Given the description of an element on the screen output the (x, y) to click on. 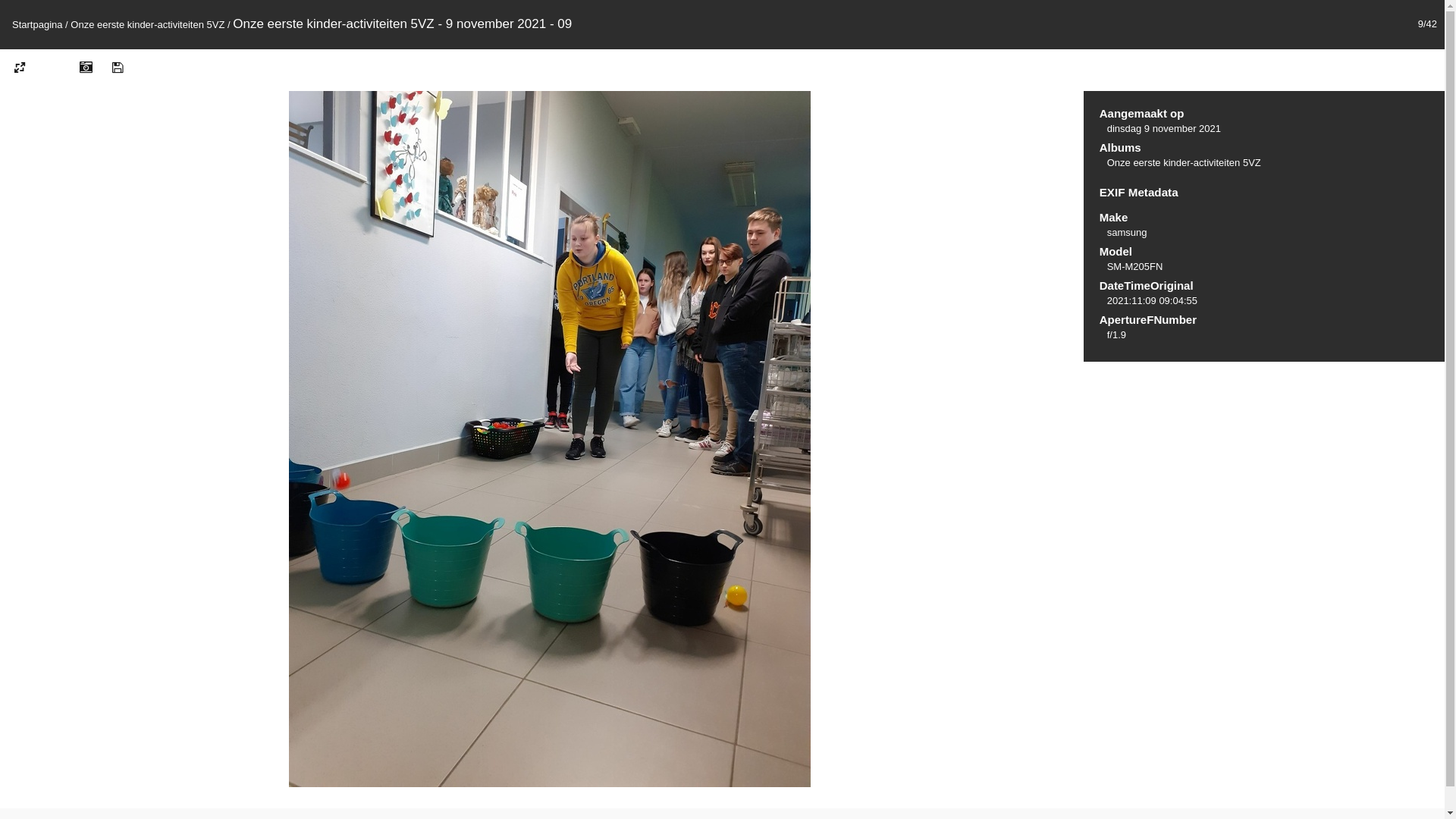
Laat bestandsmetadata zien Element type: hover (86, 67)
Download dit bestand Element type: hover (118, 67)
Onze eerste kinder-activiteiten 5VZ Element type: text (1184, 162)
dia-voorstelling Element type: hover (54, 67)
Startpagina Element type: text (37, 24)
dinsdag 9 november 2021 Element type: text (1163, 128)
Onze eerste kinder-activiteiten 5VZ Element type: text (147, 24)
Fotogroottes Element type: hover (19, 67)
